Given the description of an element on the screen output the (x, y) to click on. 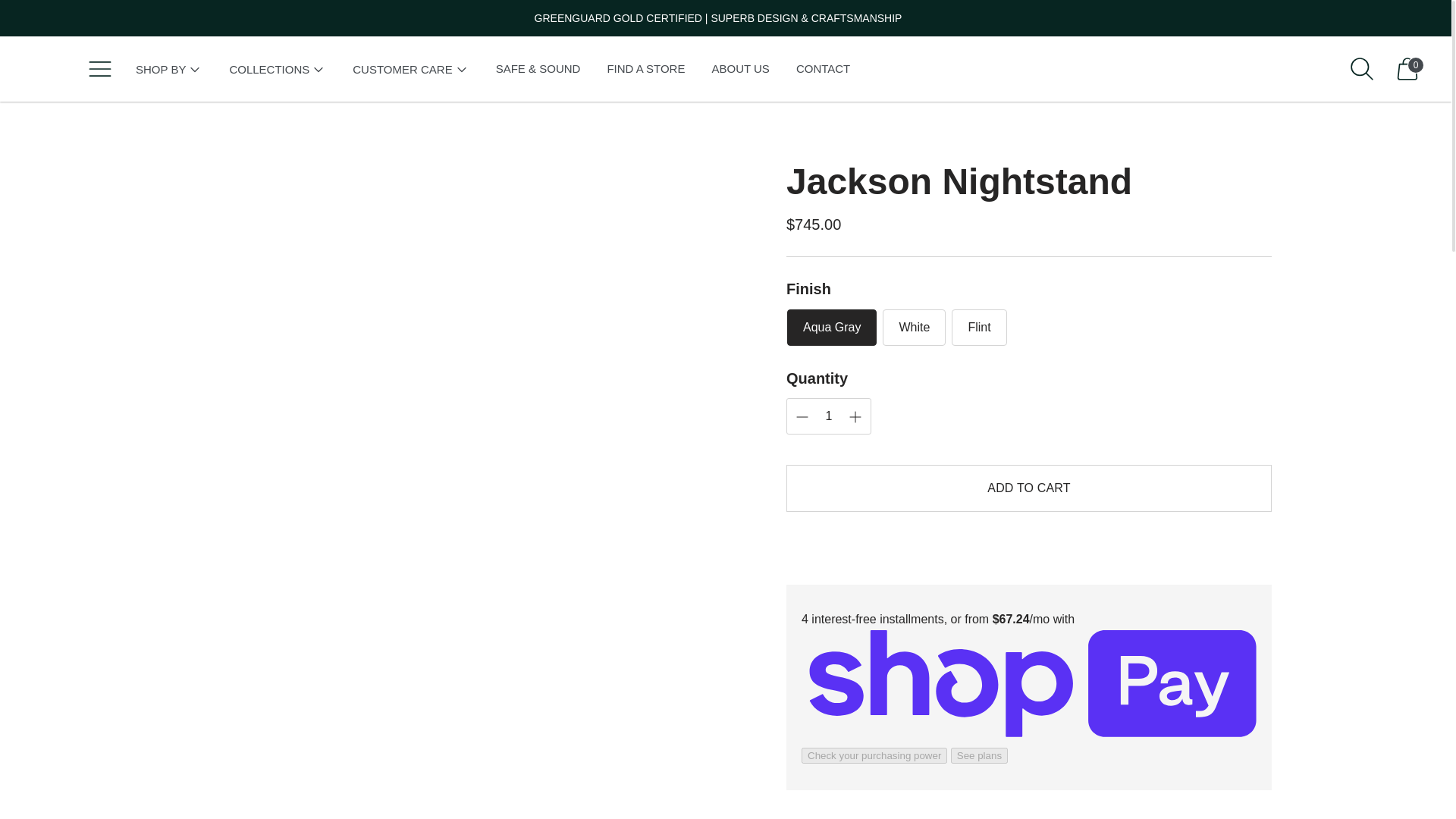
0 (1407, 68)
CONTACT (823, 68)
CUSTOMER CARE (410, 68)
COLLECTIONS (277, 68)
SHOP BY (168, 68)
FIND A STORE (645, 68)
ABOUT US (739, 68)
